Given the description of an element on the screen output the (x, y) to click on. 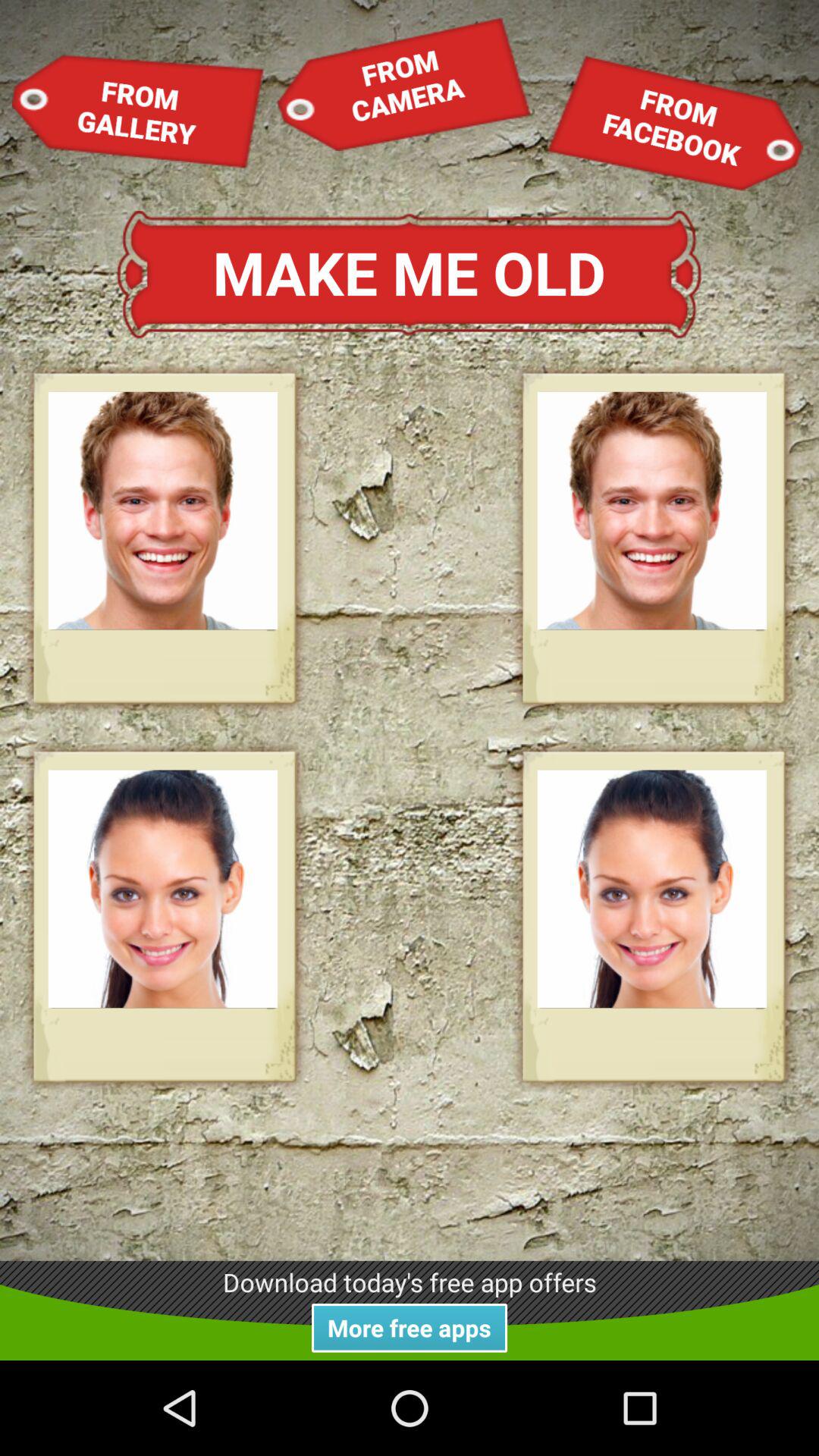
choose item above make me old (137, 110)
